Given the description of an element on the screen output the (x, y) to click on. 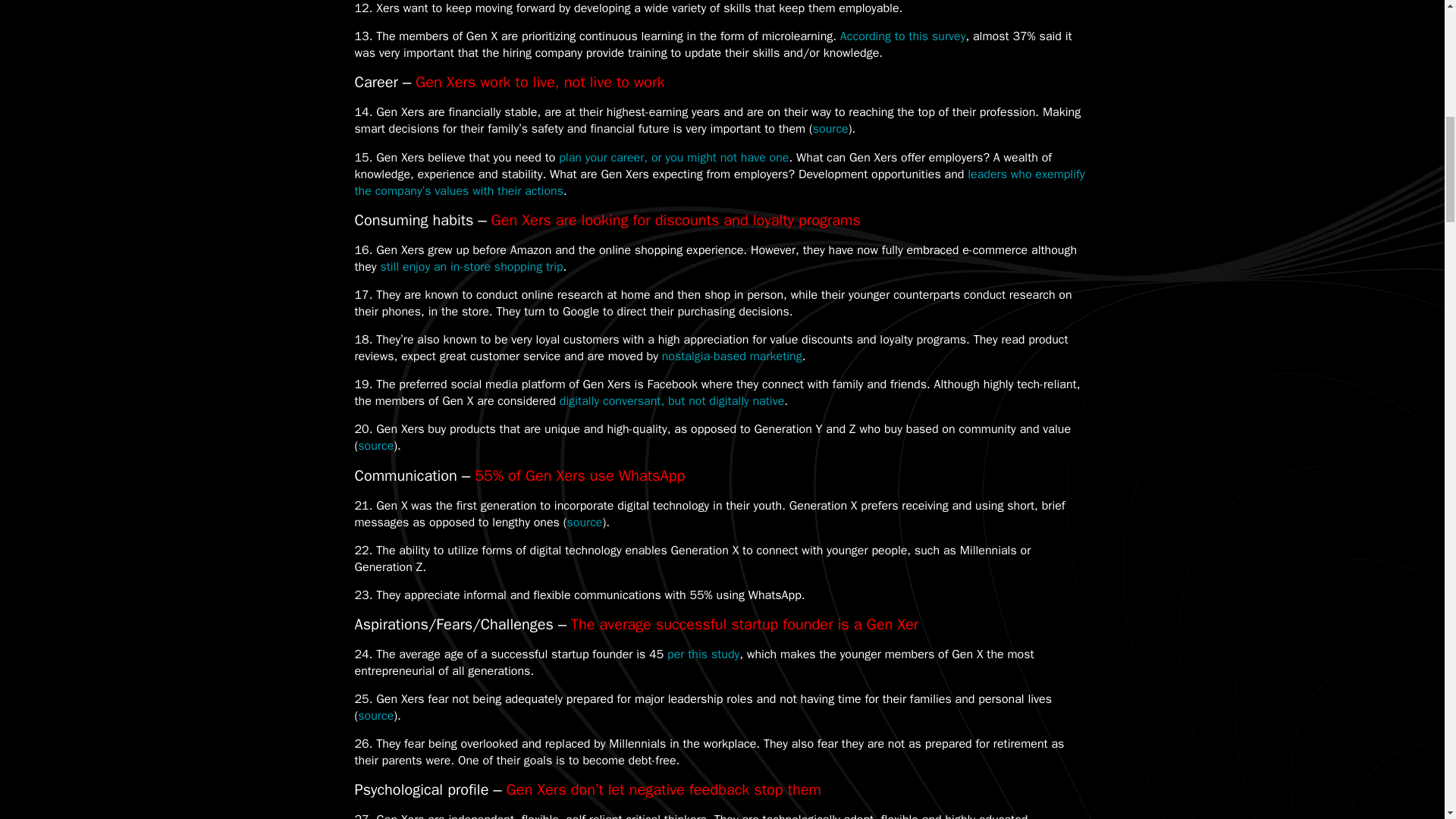
According to this survey (903, 36)
per this study (702, 654)
plan your career, or you might not have one (674, 157)
source (830, 128)
source (375, 445)
nostalgia-based marketing (732, 355)
source (375, 715)
source (584, 522)
still enjoy an in-store shopping trip (471, 266)
digitally conversant, but not digitally native (671, 400)
